Given the description of an element on the screen output the (x, y) to click on. 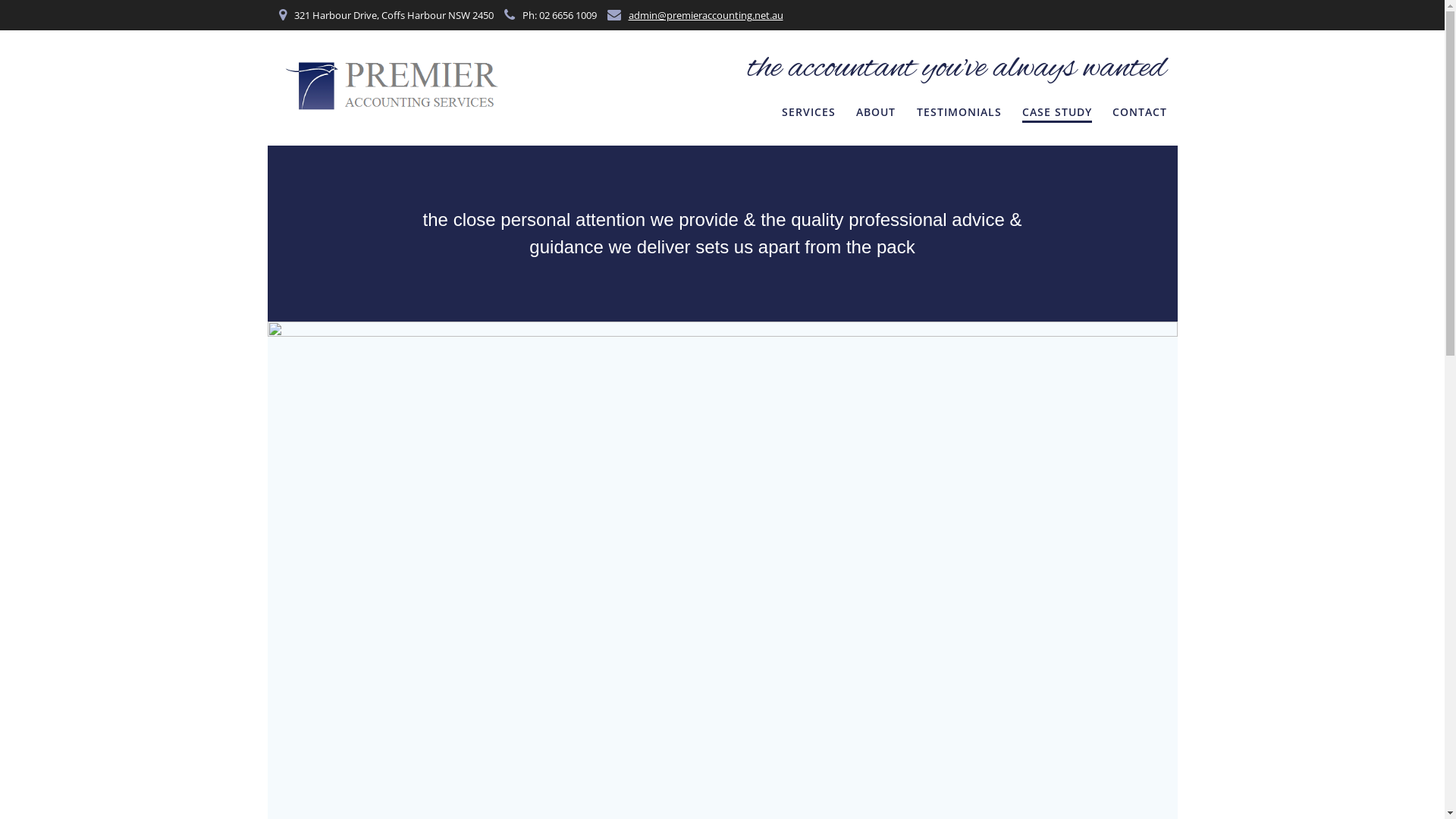
CASE STUDY Element type: text (1057, 112)
TESTIMONIALS Element type: text (958, 112)
SERVICES Element type: text (808, 112)
ABOUT Element type: text (875, 112)
admin@premieraccounting.net.au Element type: text (704, 14)
CONTACT Element type: text (1139, 112)
